Given the description of an element on the screen output the (x, y) to click on. 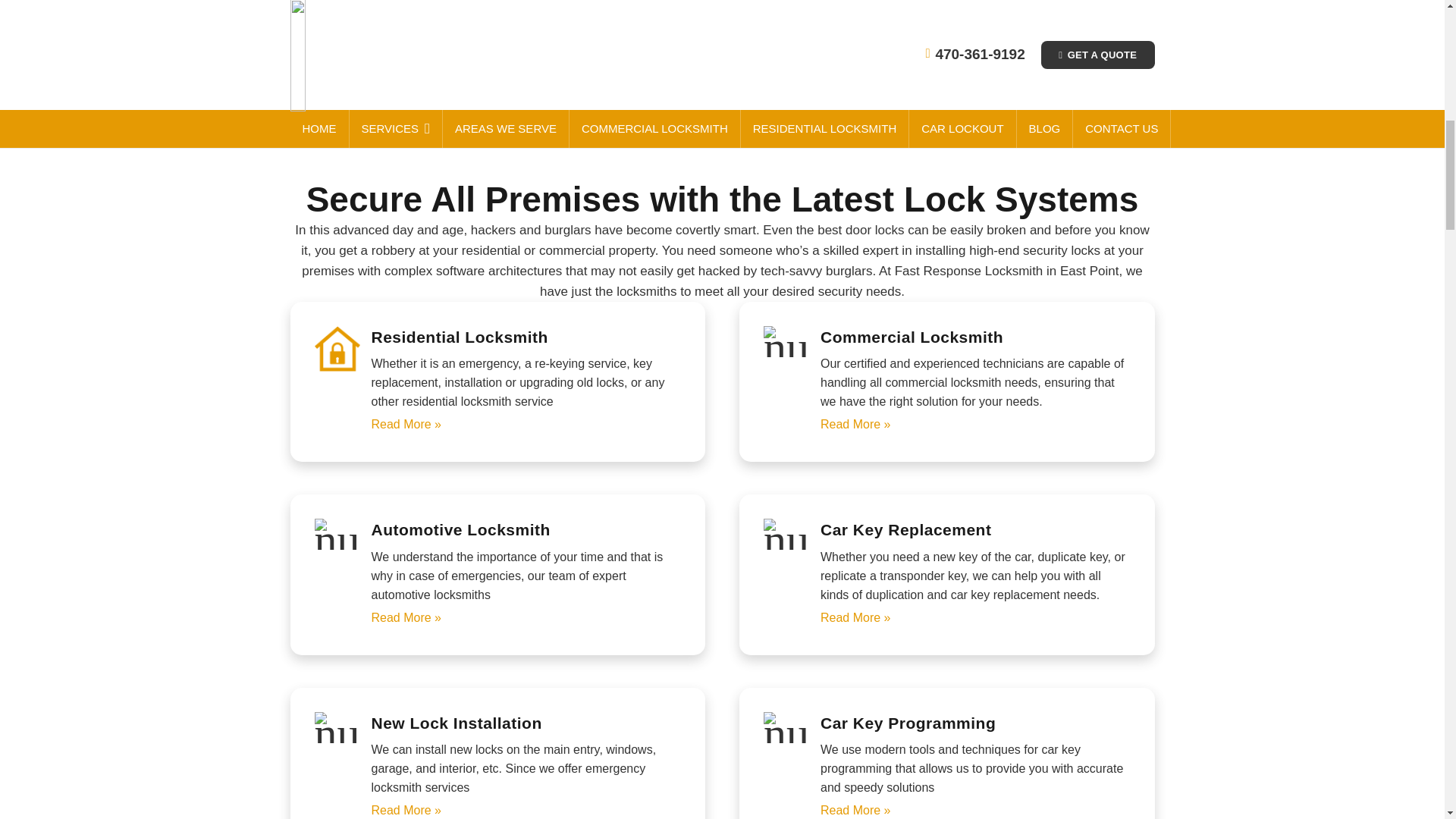
Car Key Replacement (976, 617)
Commercial Locksmith (976, 424)
Residential Locksmith (526, 807)
Residential Locksmith (976, 807)
Residential Locksmith (526, 617)
Back to top (1413, 26)
Residential Locksmith (526, 424)
